Given the description of an element on the screen output the (x, y) to click on. 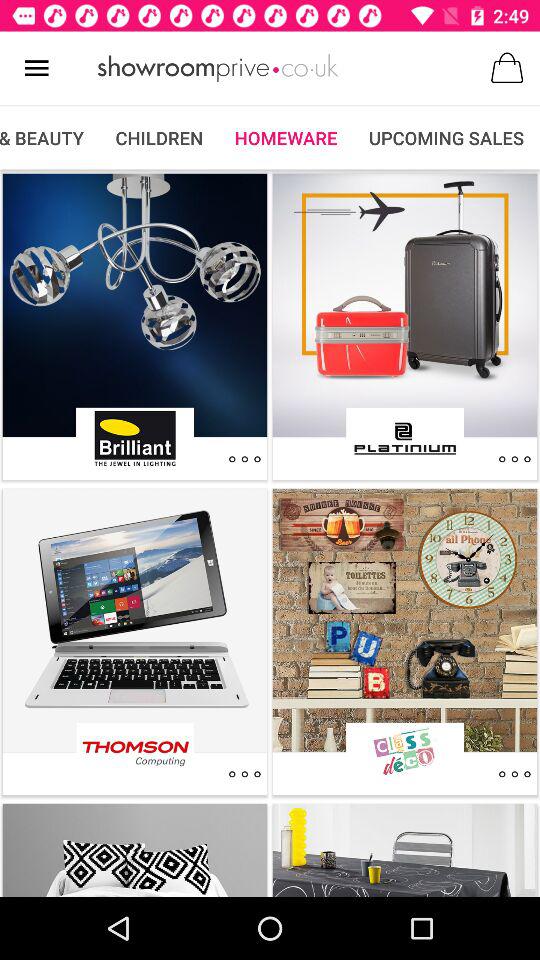
toggle options menu (514, 459)
